Given the description of an element on the screen output the (x, y) to click on. 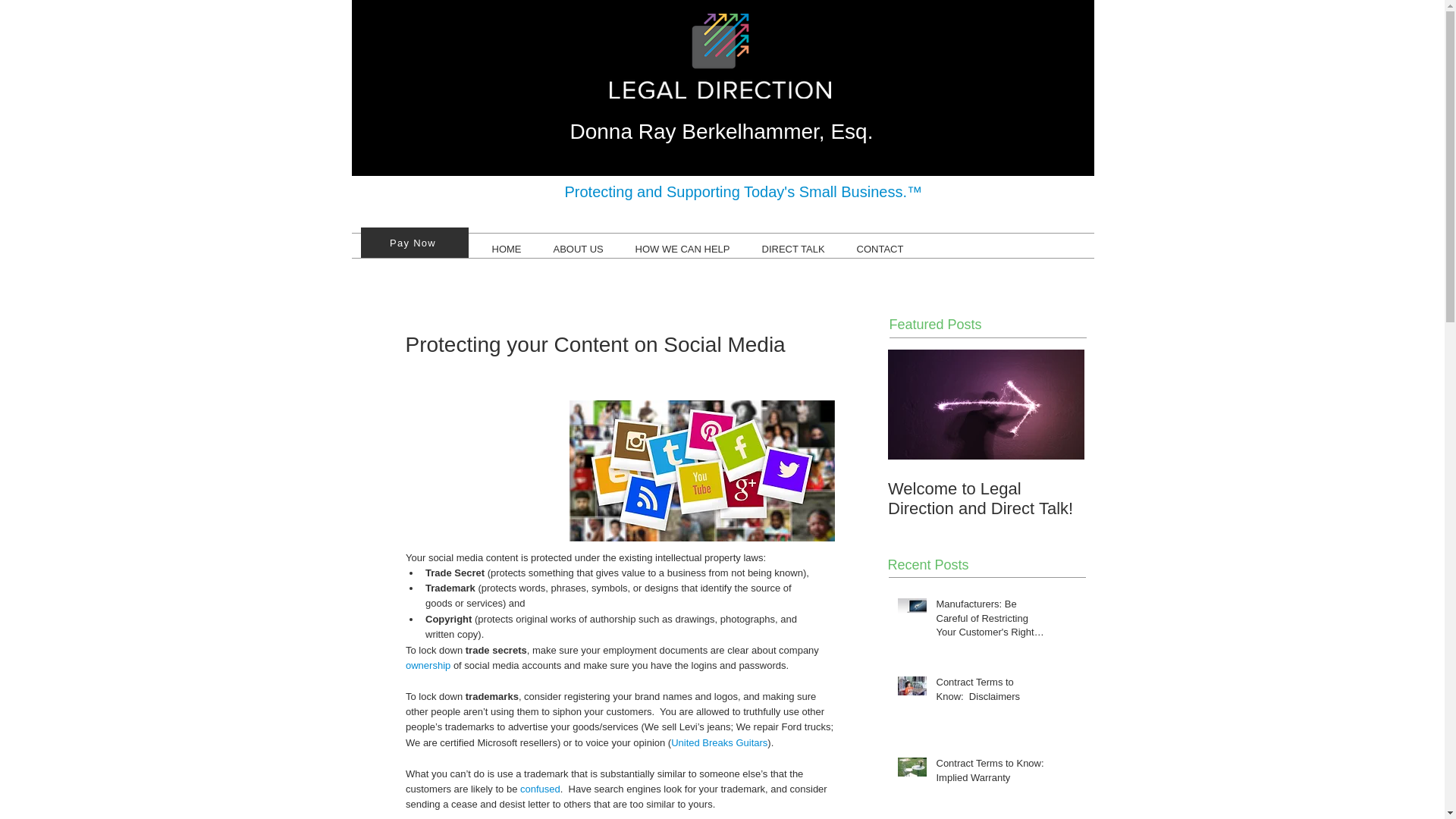
LogoBLWh.fw.png (720, 55)
United Breaks Guitars (719, 742)
Contract Terms to Know: Implied Warranty (990, 773)
HOW WE CAN HELP (681, 248)
DIRECT TALK (793, 248)
CONTACT (879, 248)
Welcome to Legal Direction and Direct Talk! (984, 498)
Pay Now (414, 242)
HOME (506, 248)
ownership (426, 665)
confused (539, 788)
Contract Terms to Know:  Disclaimers (990, 692)
ABOUT US (577, 248)
